Given the description of an element on the screen output the (x, y) to click on. 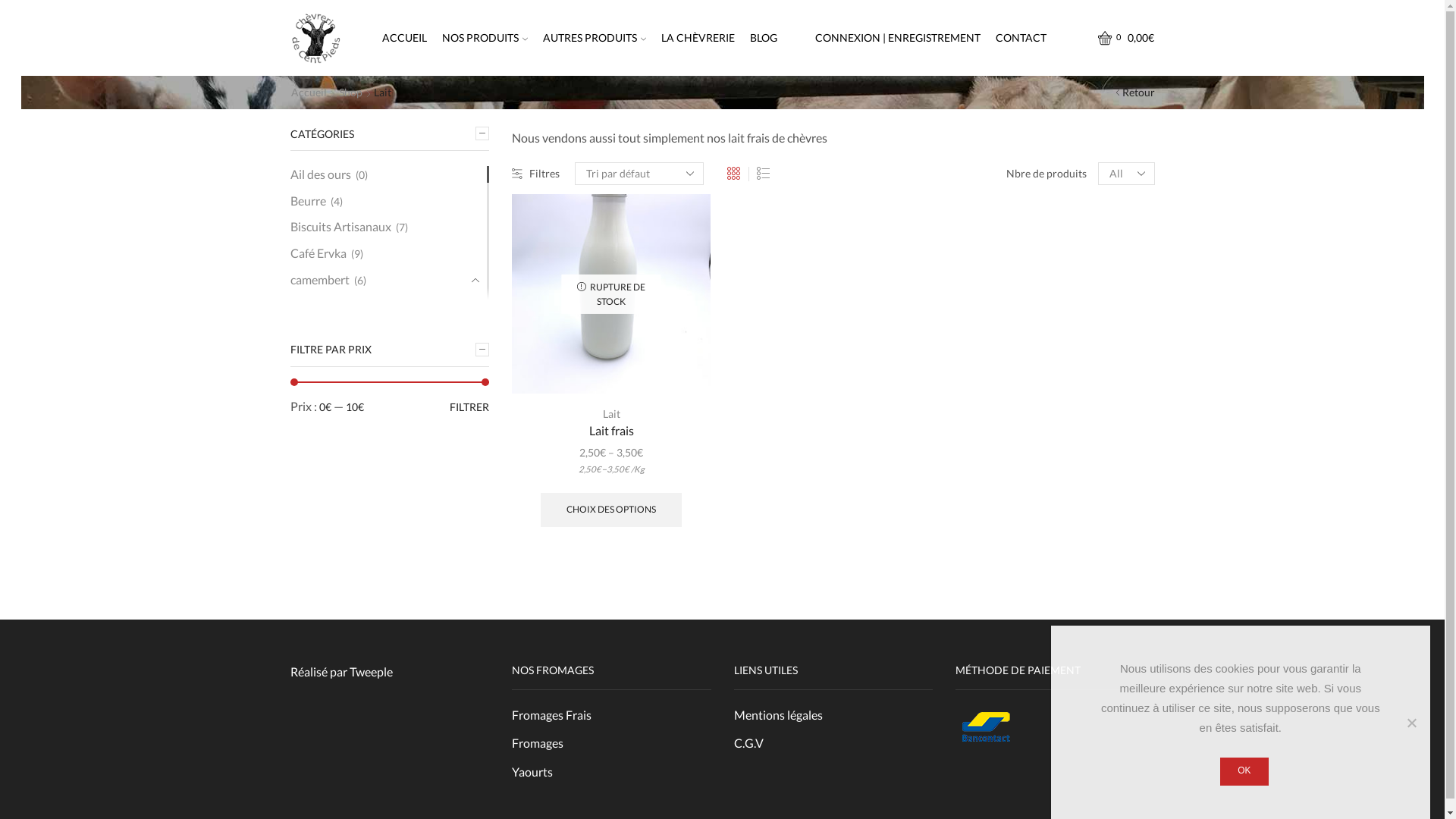
Yaourts Element type: text (531, 769)
Divers Element type: text (306, 380)
CONTACT Element type: text (1021, 37)
Beurre Element type: text (307, 201)
Accueil Element type: text (307, 92)
Les saveurs du Verger Element type: text (345, 406)
Le Cent Pieds Element type: text (326, 560)
CONNEXION | ENREGISTREMENT Element type: text (897, 37)
Fromages Element type: text (315, 511)
Lait frais Element type: text (610, 430)
Non Element type: hover (1410, 722)
BLOG Element type: text (763, 37)
Ail des ours Element type: text (319, 177)
Jus de fruits Element type: text (320, 713)
Lait Element type: text (299, 739)
AUTRES PRODUITS Element type: text (594, 37)
Farine Element type: text (306, 431)
OK Element type: text (1244, 771)
CHOIX DES OPTIONS Element type: text (610, 509)
Infusions Element type: text (313, 660)
Tomme Element type: text (312, 584)
Lait Element type: text (611, 413)
C.G.V Element type: text (748, 740)
Infusions aux fruits Element type: text (339, 687)
Filtres Element type: text (535, 173)
Type Morbier Element type: text (326, 608)
Miel Element type: text (301, 792)
Crottins secs Element type: text (325, 536)
Panna Cotta Element type: text (324, 355)
FILTRER Element type: text (469, 406)
Tweeple Element type: text (370, 671)
Fromages Element type: text (537, 742)
Shop Element type: text (350, 92)
NOS PRODUITS Element type: text (484, 37)
Retour Element type: text (1138, 92)
Dessert Element type: text (309, 330)
Biscuits Artisanaux Element type: text (339, 226)
Glaces Element type: text (306, 634)
ACCUEIL Element type: text (404, 37)
camembert Element type: text (318, 279)
Fromages Frais Element type: text (551, 717)
